Given the description of an element on the screen output the (x, y) to click on. 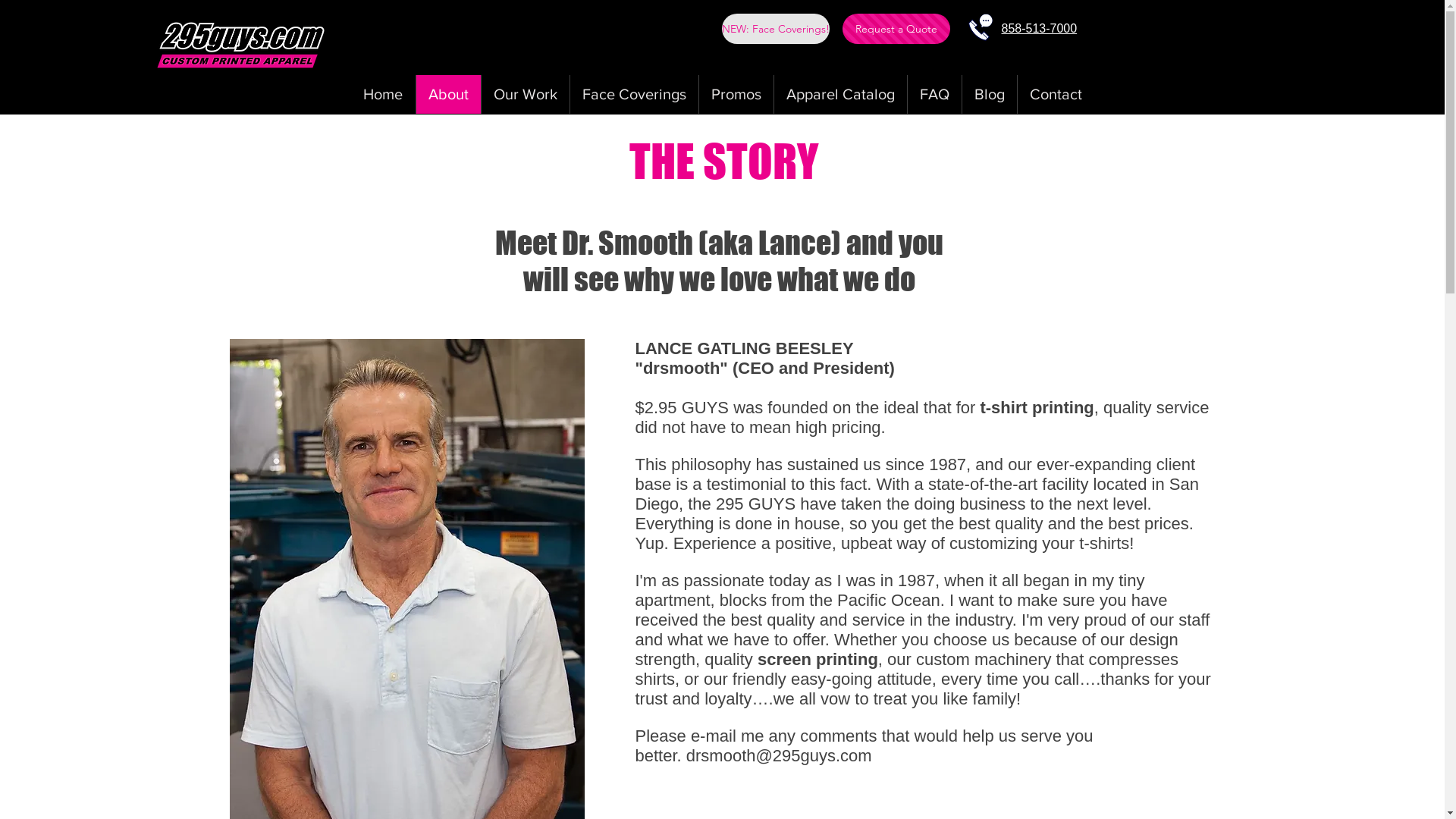
Promos Element type: text (734, 94)
Contact Element type: text (1054, 94)
About Element type: text (447, 94)
Our Work Element type: text (524, 94)
Blog Element type: text (988, 94)
drsmooth@295guys.com Element type: text (779, 755)
NEW: Face Coverings! Element type: text (775, 28)
Request a Quote Element type: text (895, 28)
Apparel Catalog Element type: text (839, 94)
Home Element type: text (382, 94)
FAQ Element type: text (933, 94)
Face Coverings Element type: text (632, 94)
